Given the description of an element on the screen output the (x, y) to click on. 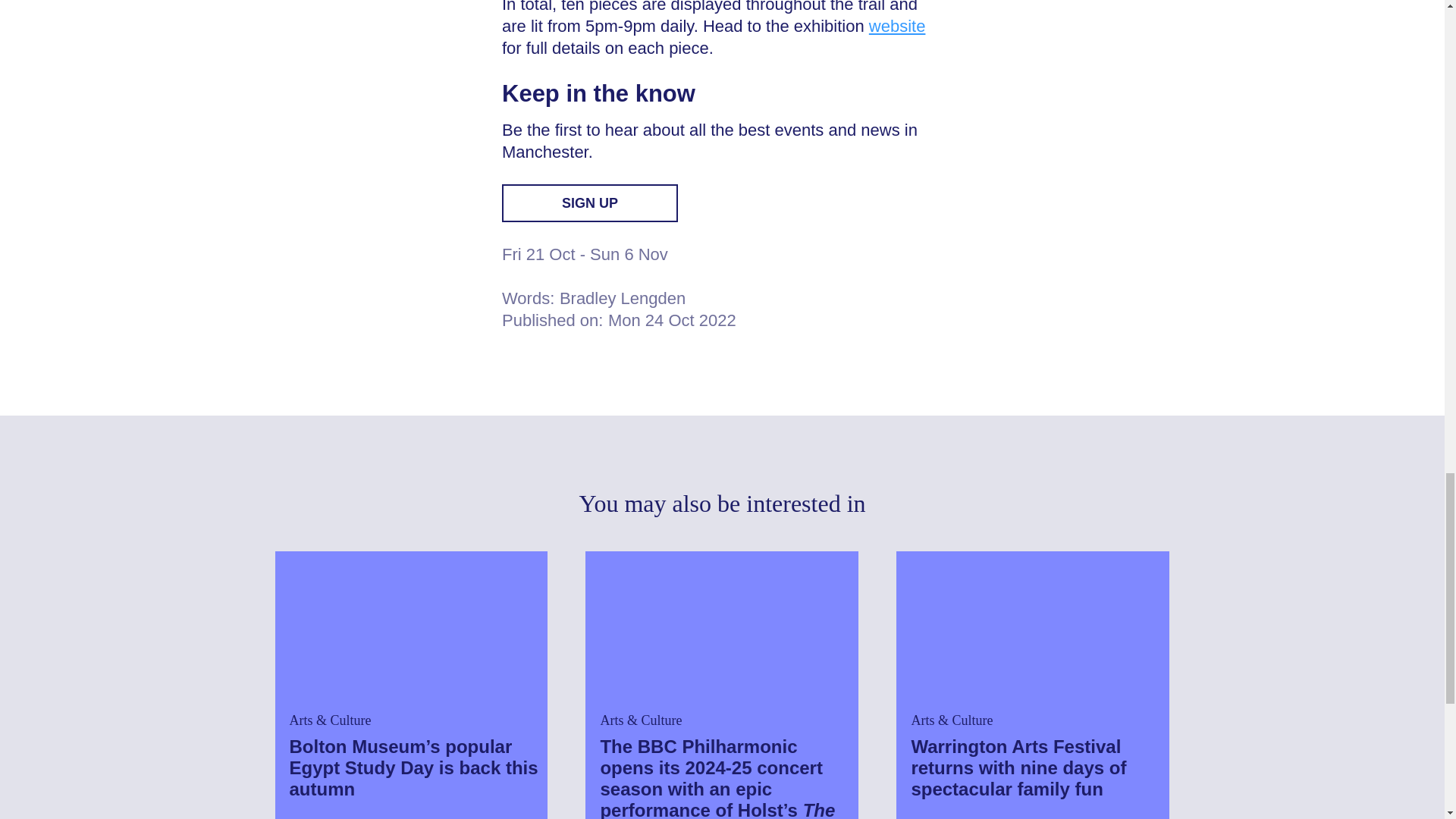
SIGN UP (590, 202)
website (897, 26)
